Given the description of an element on the screen output the (x, y) to click on. 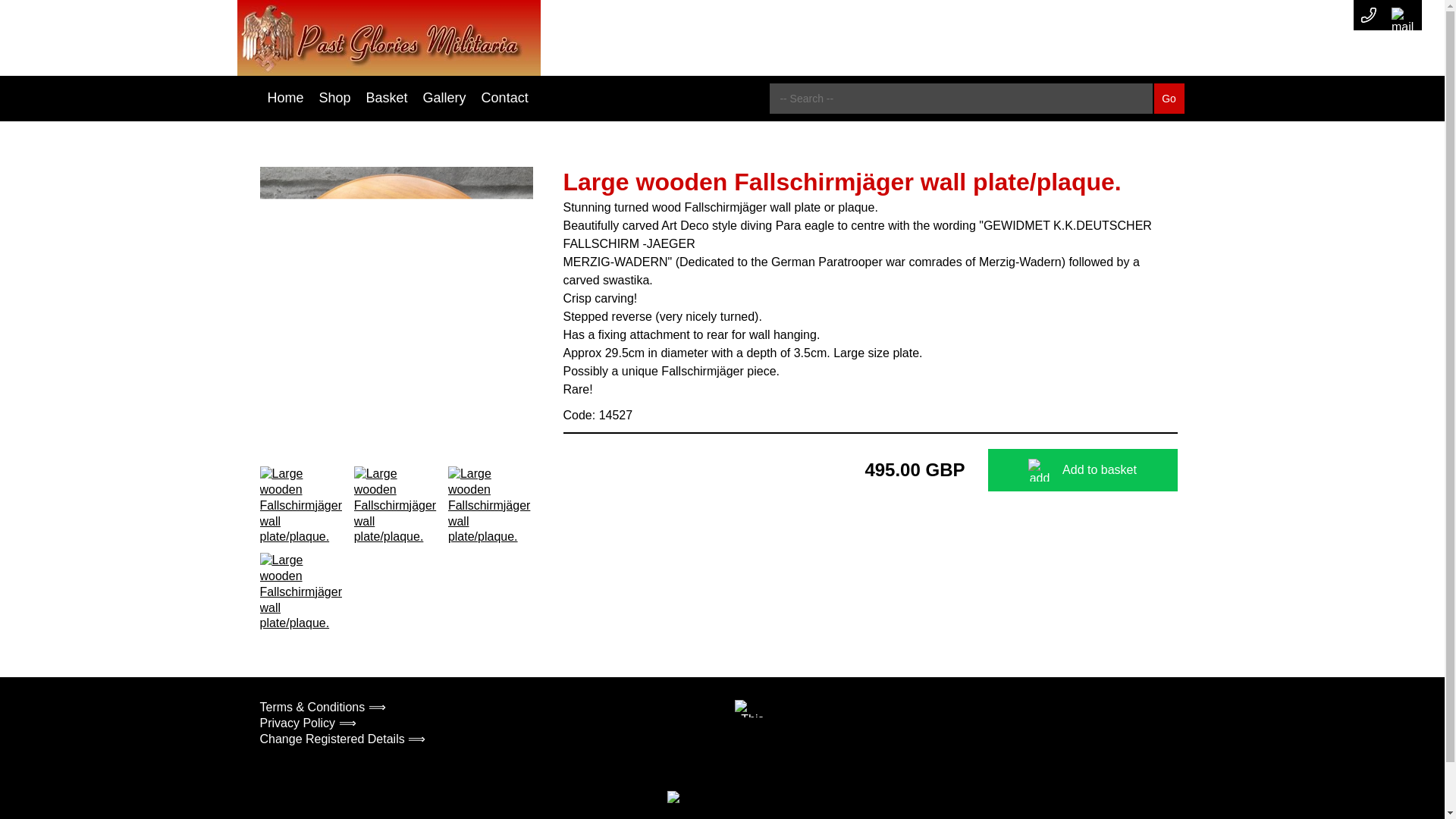
tel (1368, 14)
add to basket (1039, 469)
Home (285, 98)
Logo (387, 38)
Go (1169, 98)
Contact (504, 98)
Go (1169, 98)
mail (1403, 15)
Gallery (444, 98)
Cardsave (698, 798)
